Given the description of an element on the screen output the (x, y) to click on. 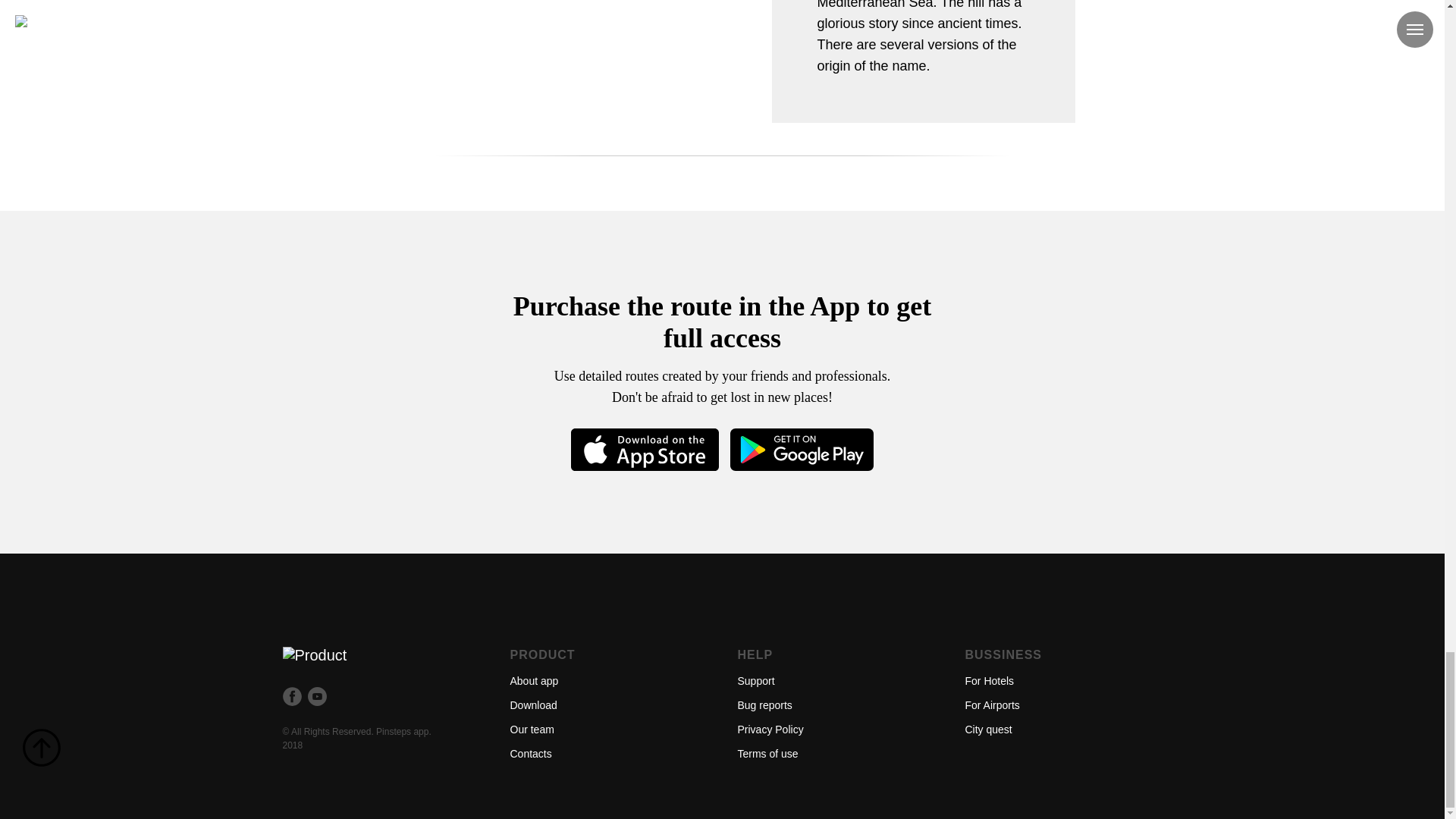
Facebook (291, 696)
Youtube (316, 696)
Youtube (316, 701)
Facebook (291, 701)
About app (533, 680)
Download (532, 705)
